Given the description of an element on the screen output the (x, y) to click on. 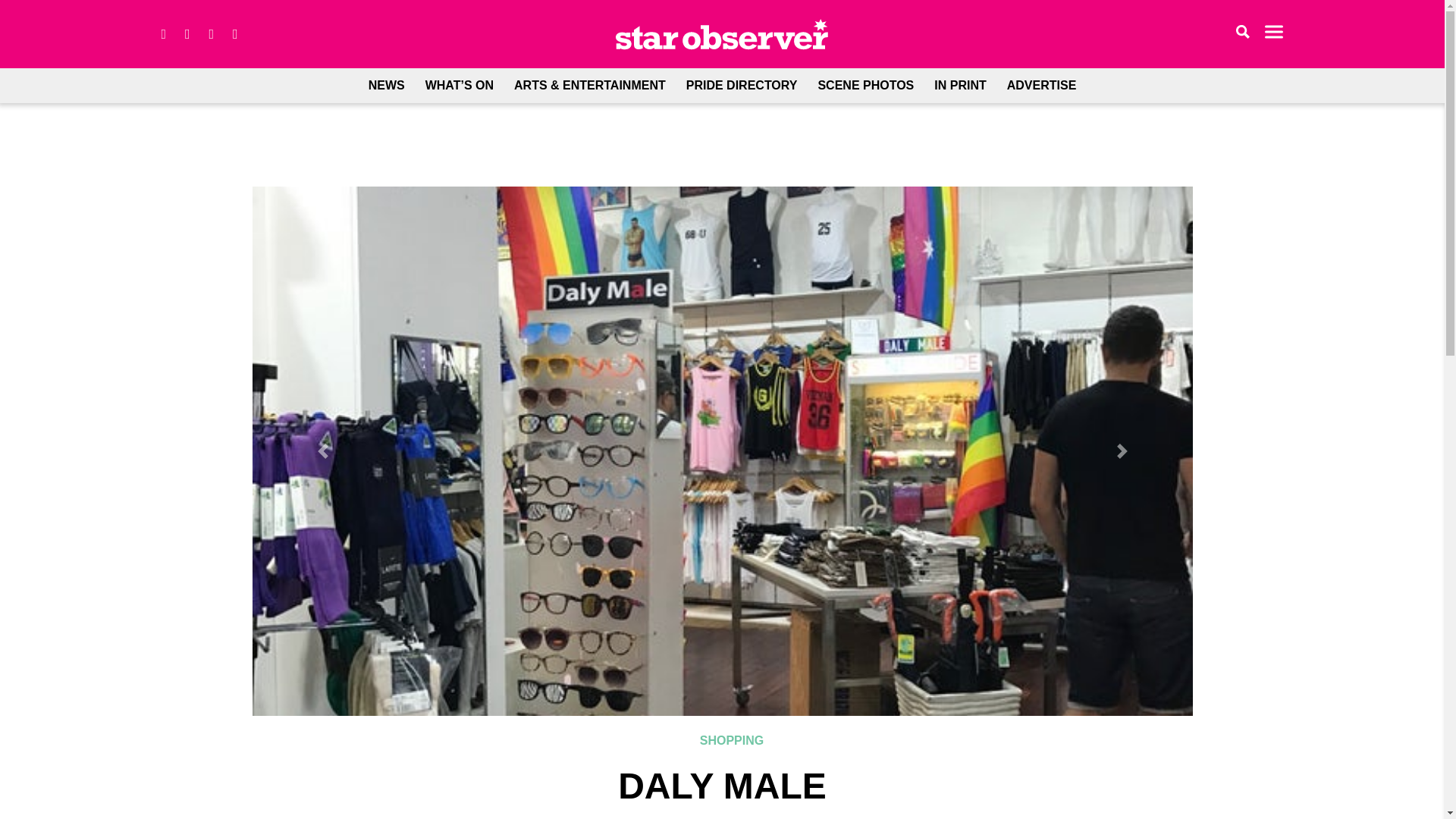
ADVERTISE (1041, 85)
NEWS (386, 85)
PRIDE DIRECTORY (742, 85)
SCENE PHOTOS (865, 85)
IN PRINT (960, 85)
